Given the description of an element on the screen output the (x, y) to click on. 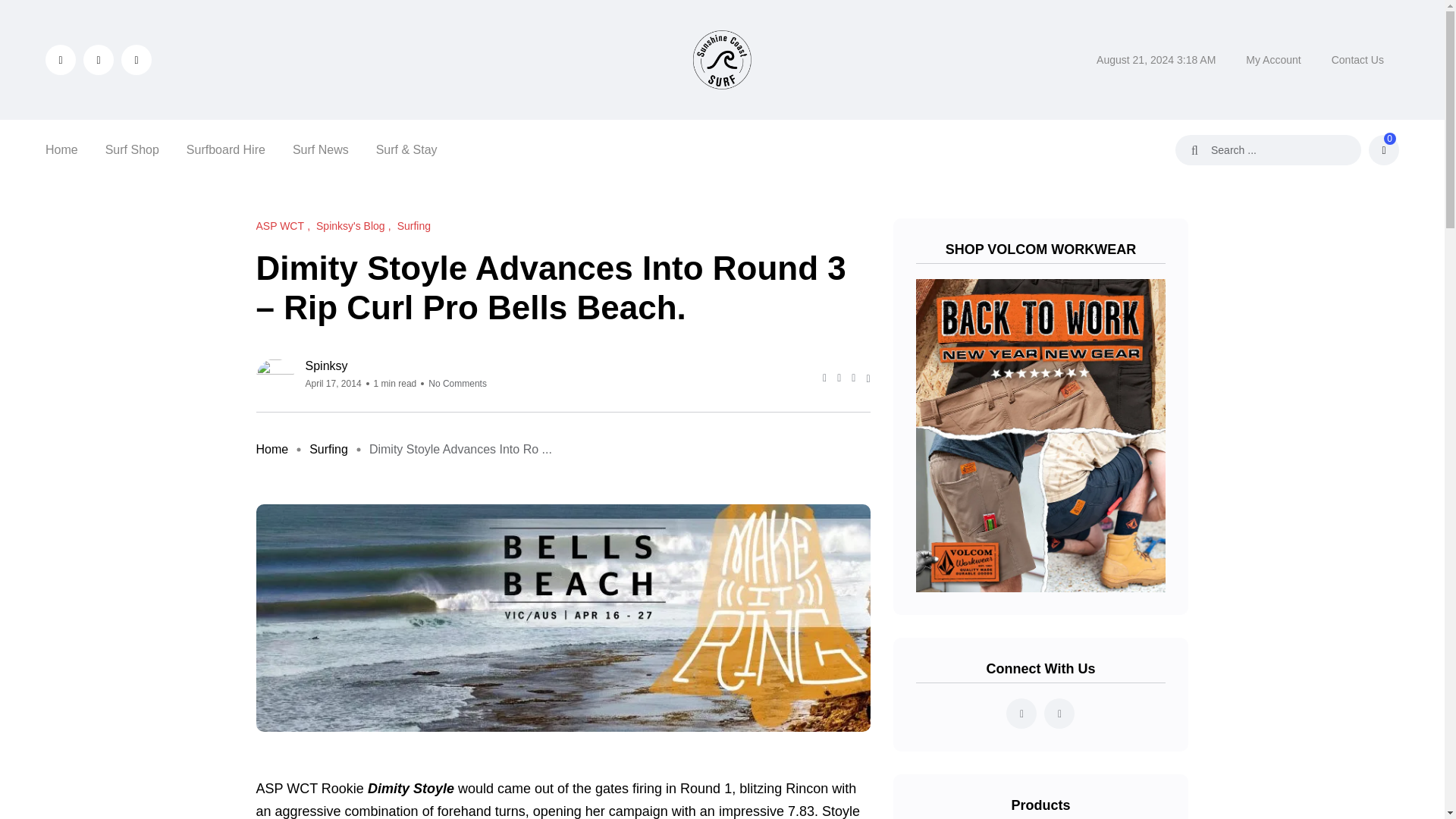
Sunshine Coast Surf (722, 59)
Contact Us (1358, 59)
My Account (1273, 59)
0 (1383, 150)
Home (272, 449)
Surf News (320, 149)
Surfboard Hire (225, 149)
